Given the description of an element on the screen output the (x, y) to click on. 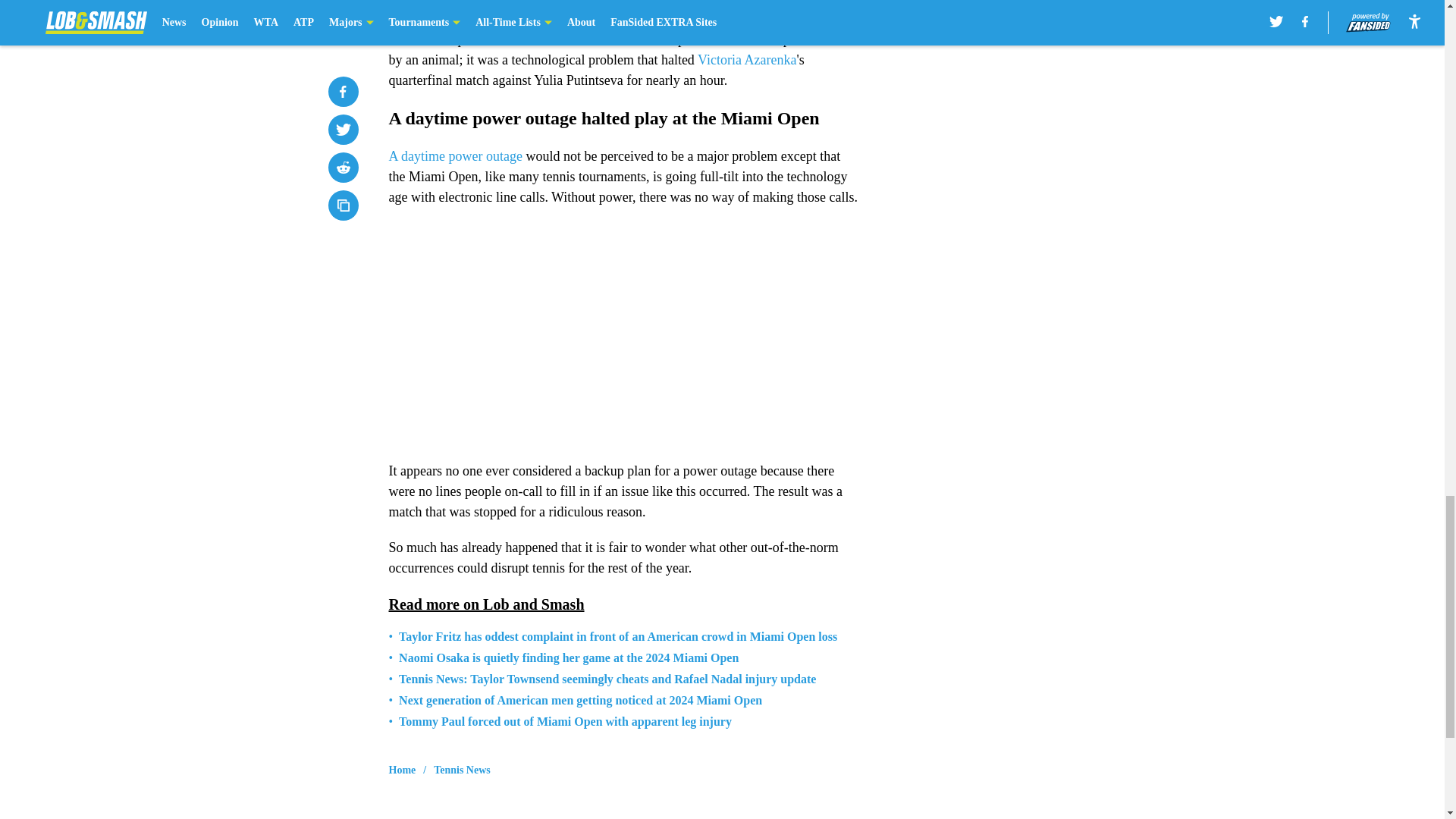
Home (401, 770)
Tennis News (461, 770)
Victoria Azarenka (746, 59)
Tommy Paul forced out of Miami Open with apparent leg injury (565, 721)
A daytime power outage (454, 155)
